Given the description of an element on the screen output the (x, y) to click on. 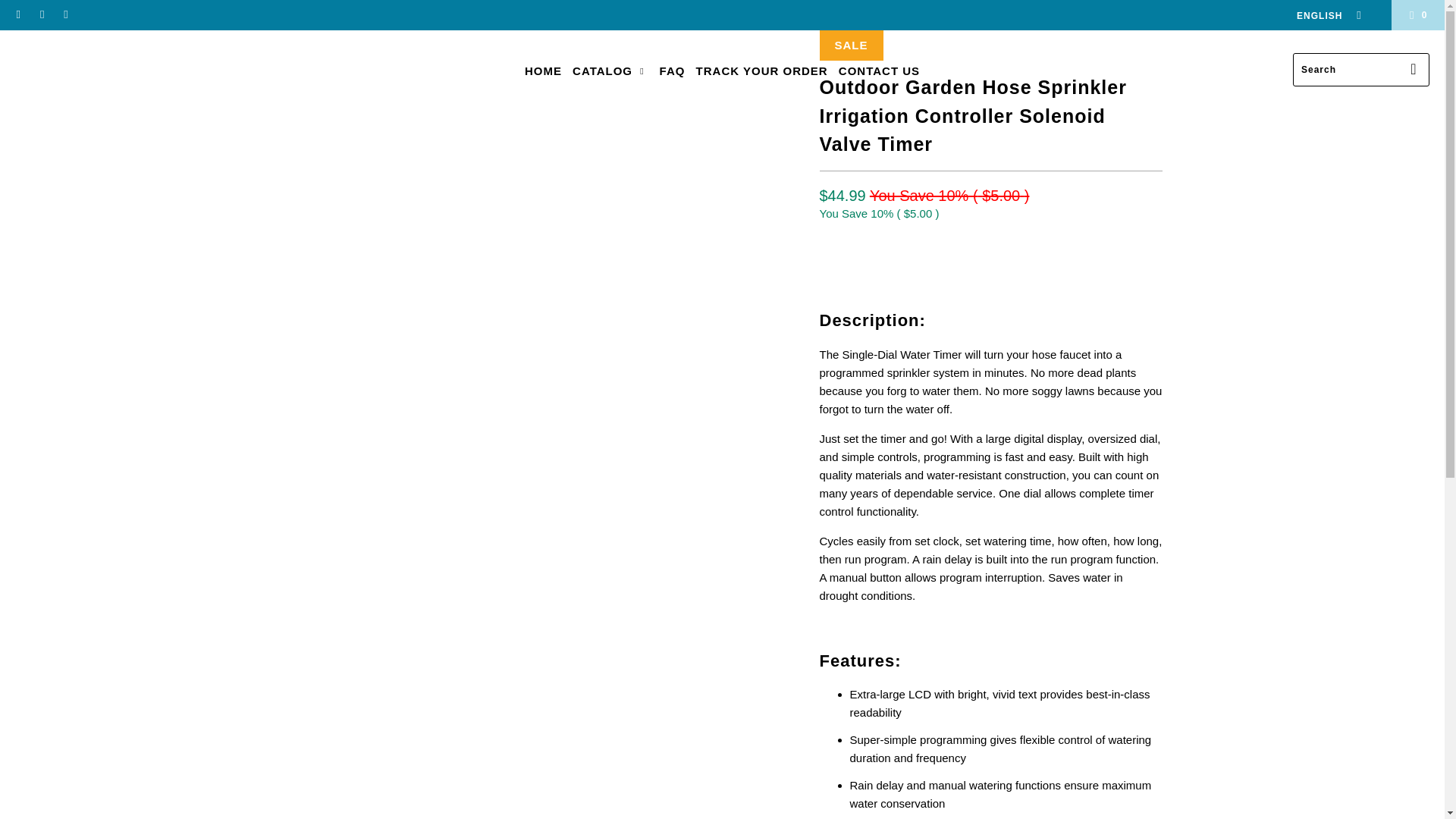
SHOPILANDS on Instagram (65, 14)
SHOPILANDS on Facebook (41, 14)
SHOPILANDS on Twitter (17, 14)
ENGLISH (1324, 15)
